Given the description of an element on the screen output the (x, y) to click on. 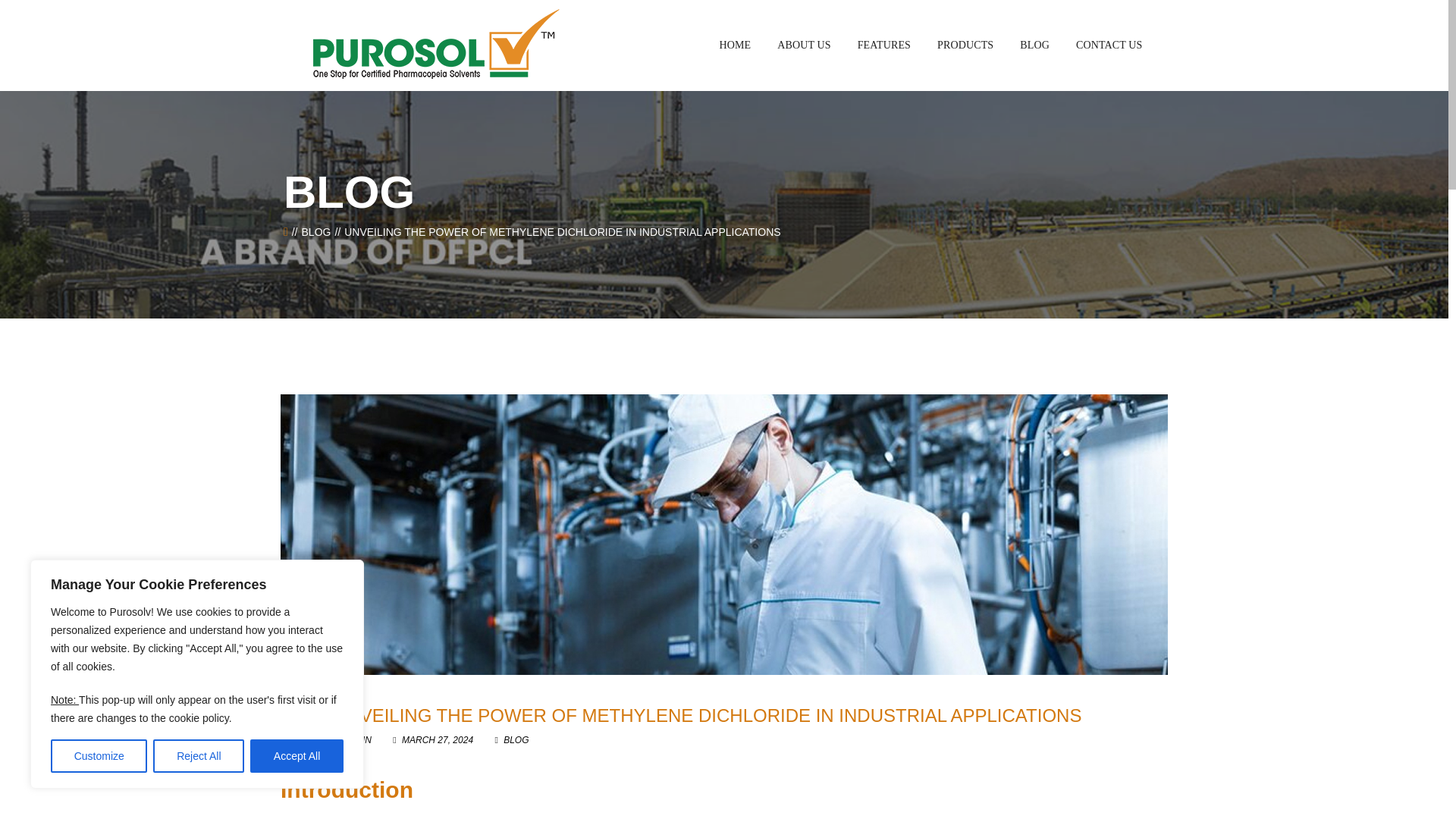
Customize (98, 756)
MARCH 27, 2024 (434, 739)
Reject All (198, 756)
BLOG (515, 739)
ABOUT US (803, 45)
BLOG (1034, 45)
ADMIN (352, 739)
Accept All (296, 756)
SUBMIT (724, 556)
BLOG (316, 232)
PRODUCTS (964, 45)
